Given the description of an element on the screen output the (x, y) to click on. 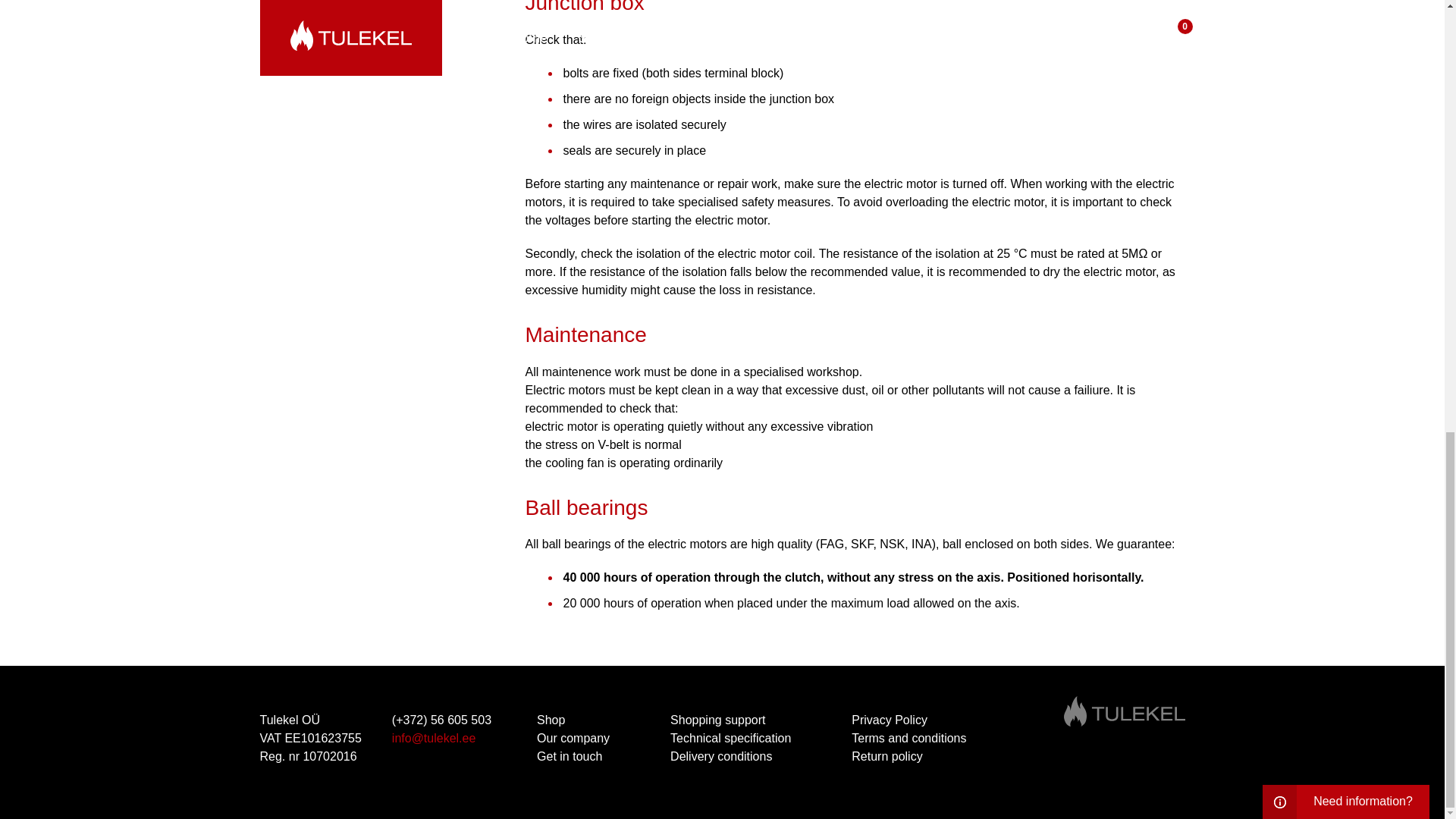
Privacy Policy (888, 719)
Delivery conditions (721, 756)
Technical specification (730, 737)
Get in touch (569, 756)
Shopping support (717, 719)
Terms and conditions (908, 737)
Our company (572, 737)
Return policy (886, 756)
Shop (550, 719)
